Given the description of an element on the screen output the (x, y) to click on. 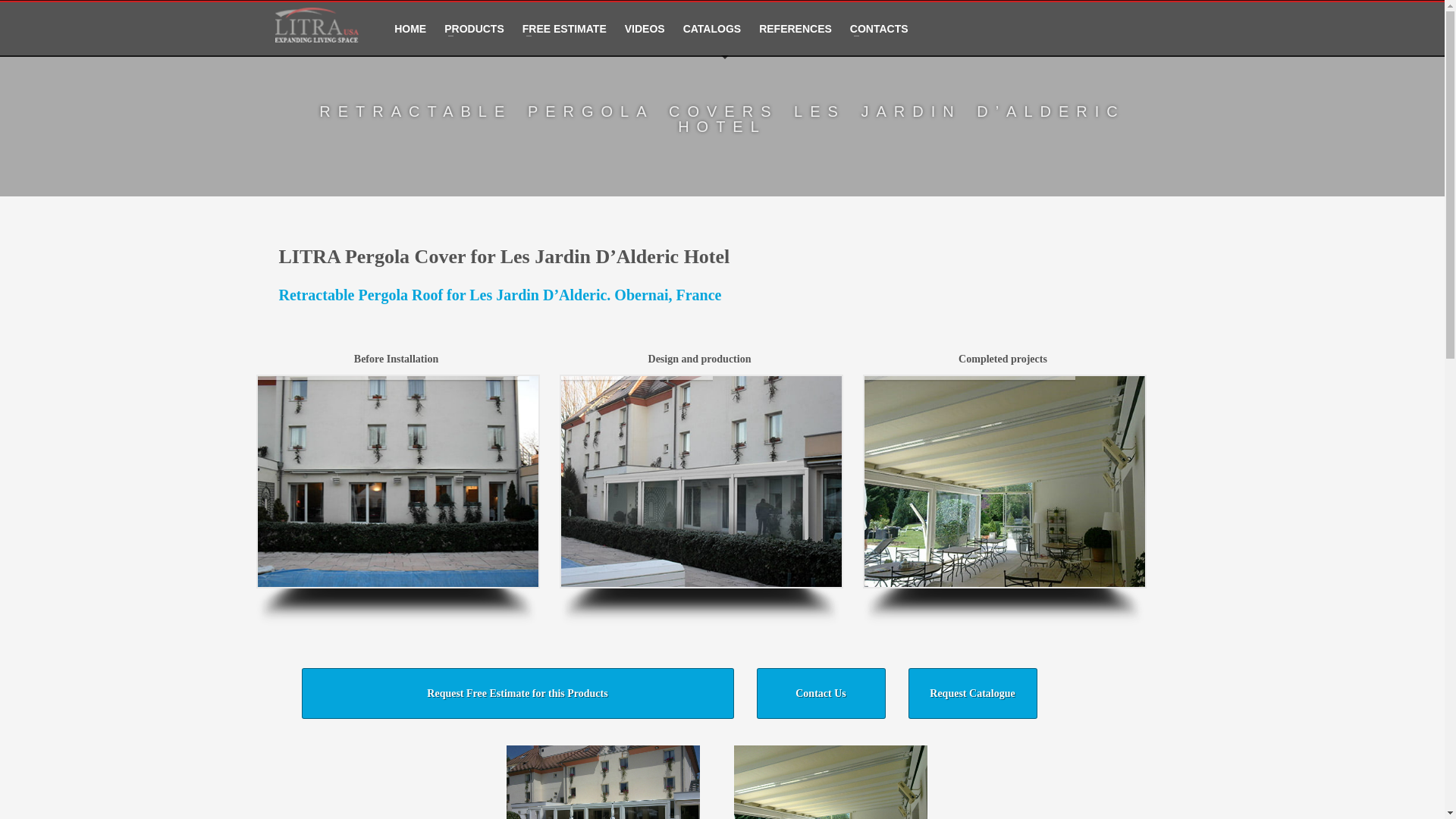
CATALOGS (711, 28)
Contact Us (821, 693)
VIDEOS (644, 28)
Request Catalogue (972, 693)
REFERENCES (795, 28)
HOME (410, 28)
Litra Retractable Pergola Covers for Les Jardin d'Alderic (603, 782)
Request Free Estimate for this Products (517, 693)
Litra Retractable Pergola Covers for Les Jardin d'Alderic (830, 782)
